Given the description of an element on the screen output the (x, y) to click on. 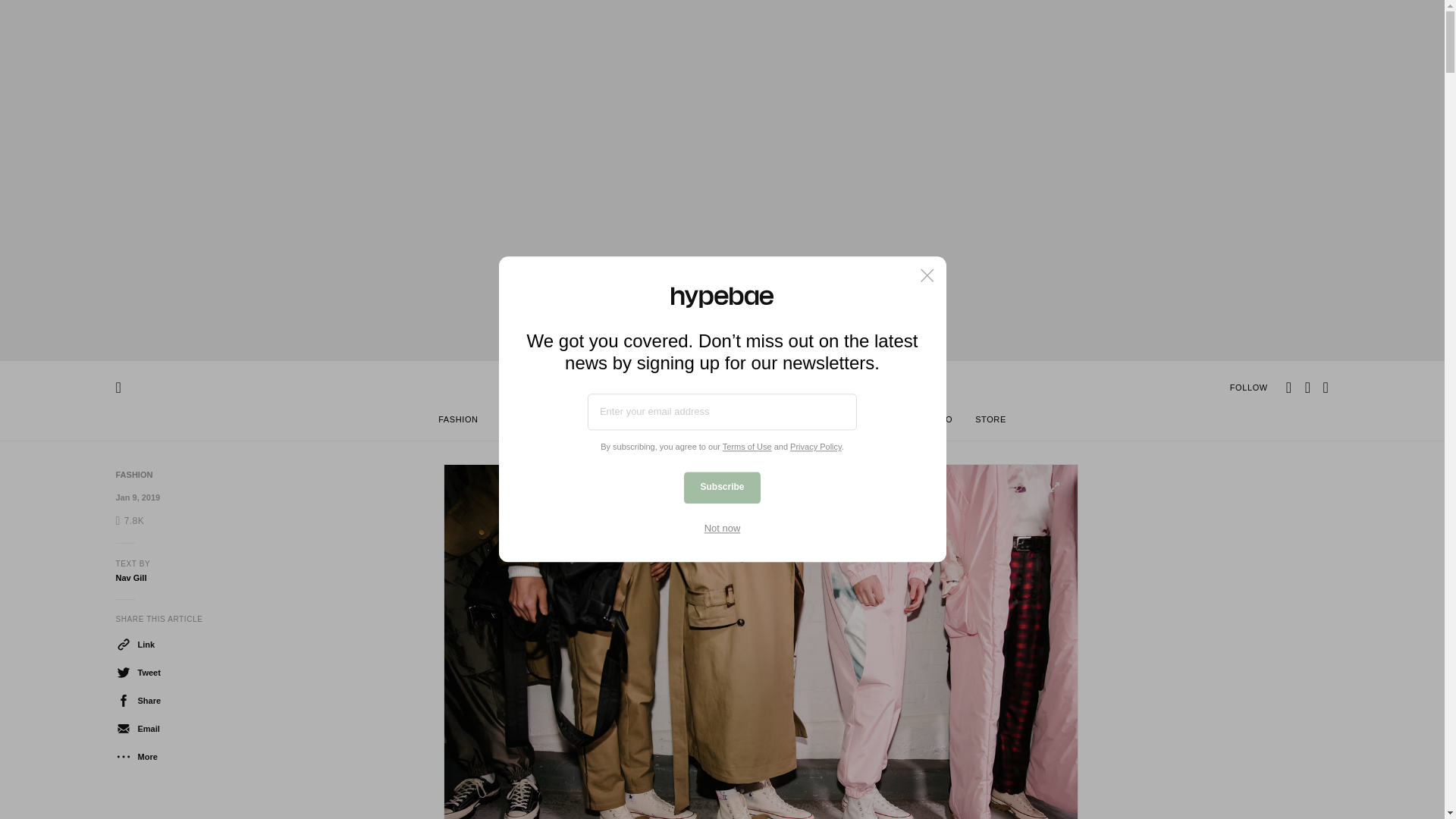
STORE (990, 421)
Fashion (133, 474)
FOLLOW (1248, 387)
FASHION (457, 421)
FOOTWEAR (526, 421)
MUSIC (820, 421)
FASHION (133, 474)
BEAUTY (593, 421)
CULTURE (879, 421)
RADIO (937, 421)
Nav Gill (131, 577)
